Given the description of an element on the screen output the (x, y) to click on. 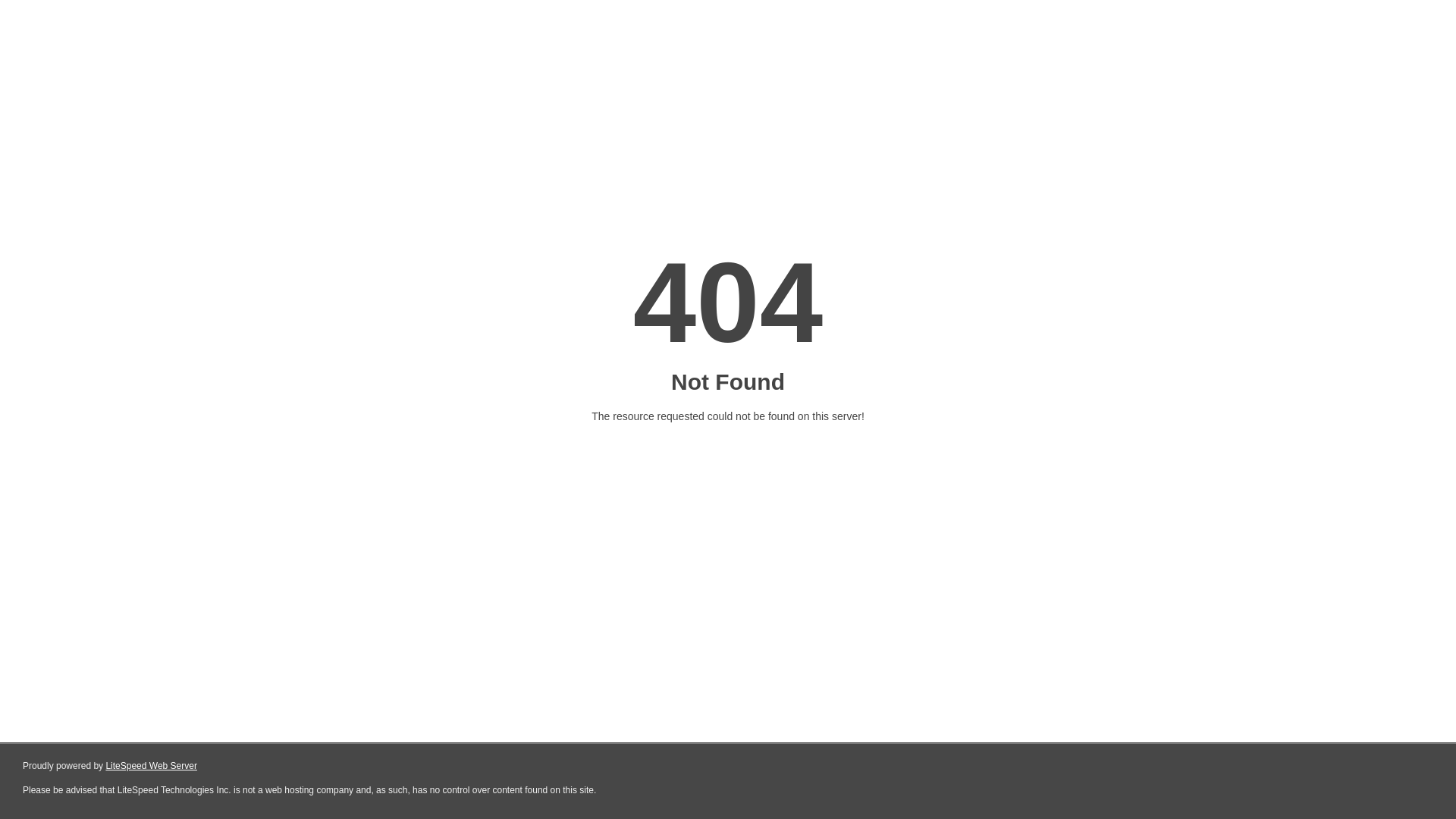
LiteSpeed Web Server Element type: text (151, 765)
